Given the description of an element on the screen output the (x, y) to click on. 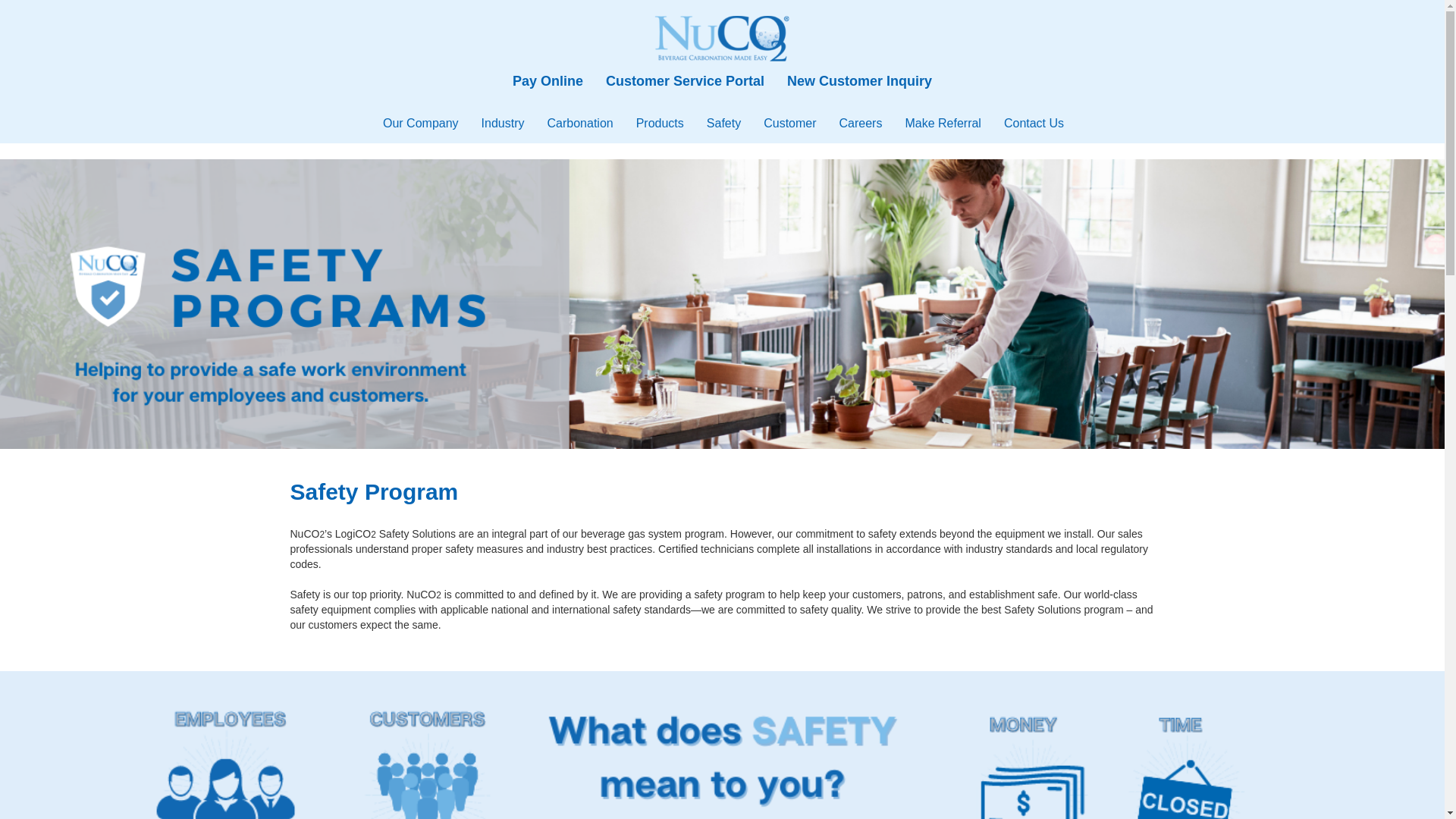
Products (659, 123)
New Customer Inquiry (859, 80)
Customer Service Portal (685, 80)
Customer (789, 123)
Industry (502, 123)
Careers (860, 123)
Carbonation (579, 123)
Safety (723, 123)
Pay Online (547, 80)
Our Company (420, 123)
